Given the description of an element on the screen output the (x, y) to click on. 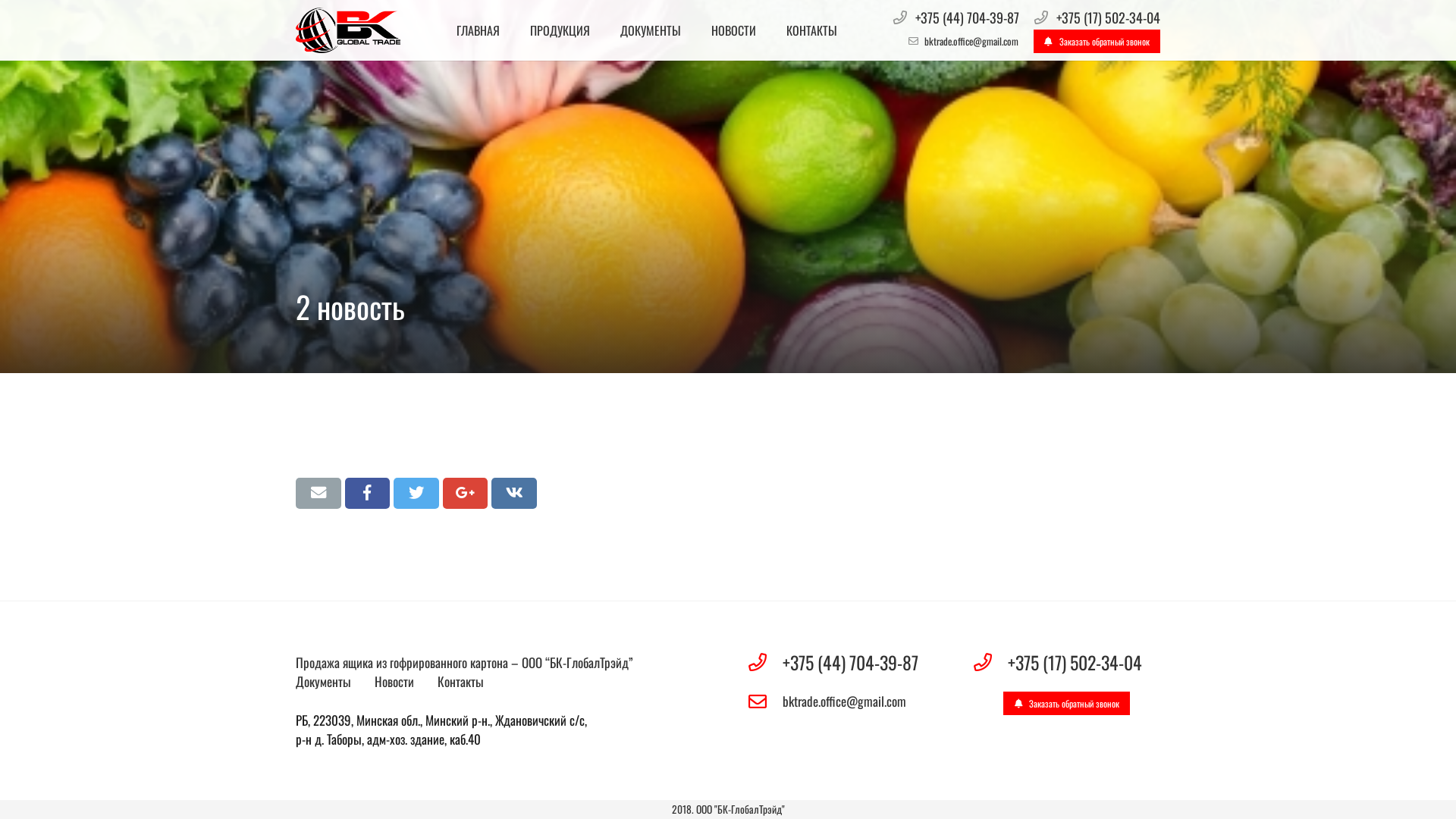
bktrade.office@gmail.com Element type: text (971, 40)
bktrade.office@gmail.com Element type: text (858, 700)
+375 (17) 502-34-04 Element type: text (1083, 661)
+375 (44) 704-39-87 Element type: text (967, 17)
+375 (17) 502-34-04 Element type: text (1108, 17)
+375 (44) 704-39-87 Element type: text (858, 661)
